Given the description of an element on the screen output the (x, y) to click on. 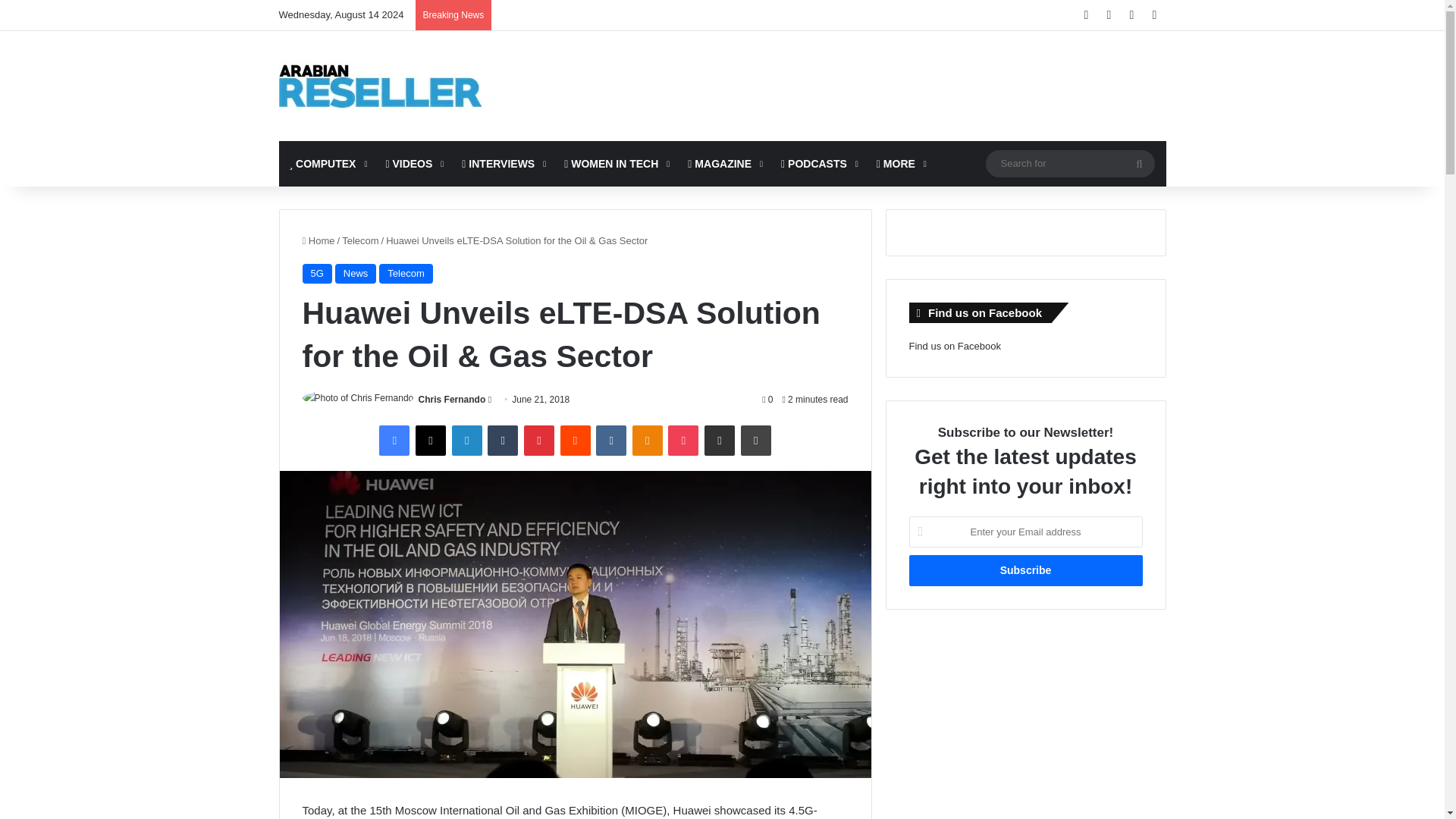
Arabian Reseller (392, 85)
News (355, 273)
Facebook (393, 440)
Telecom (360, 240)
Subscribe (1025, 570)
X (429, 440)
Reddit (574, 440)
COMPUTEX (327, 163)
Pinterest (539, 440)
Home (317, 240)
